Given the description of an element on the screen output the (x, y) to click on. 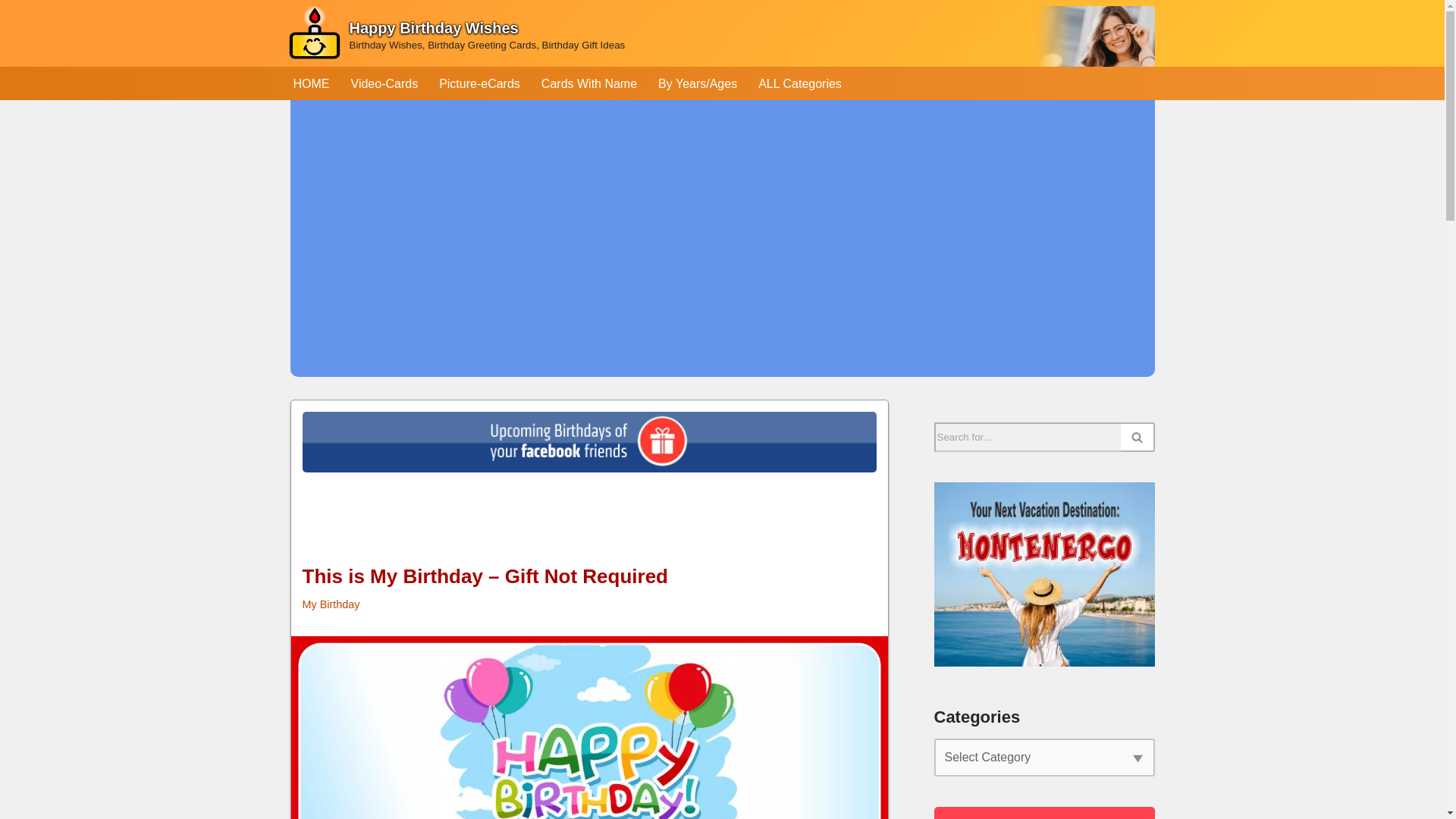
Skip to content (11, 31)
HOME (310, 83)
Picture-eCards (479, 83)
Cards With Name (589, 83)
ALL Categories (799, 83)
This is My Birthday - Gift Not Required Card - Similar Ones (589, 727)
My Birthday (330, 604)
Video-Cards (383, 83)
